Given the description of an element on the screen output the (x, y) to click on. 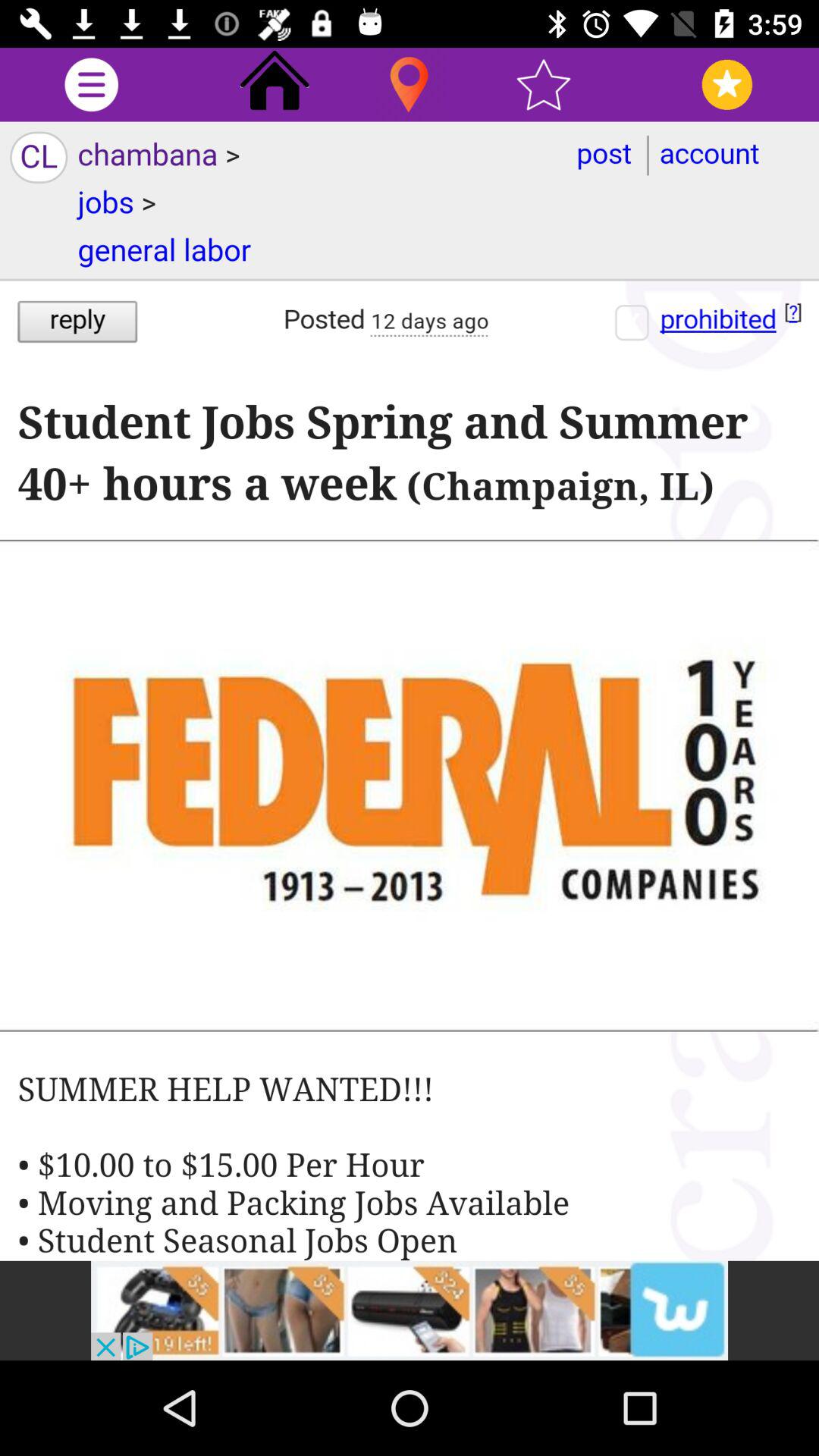
go to current location tab (409, 84)
